Given the description of an element on the screen output the (x, y) to click on. 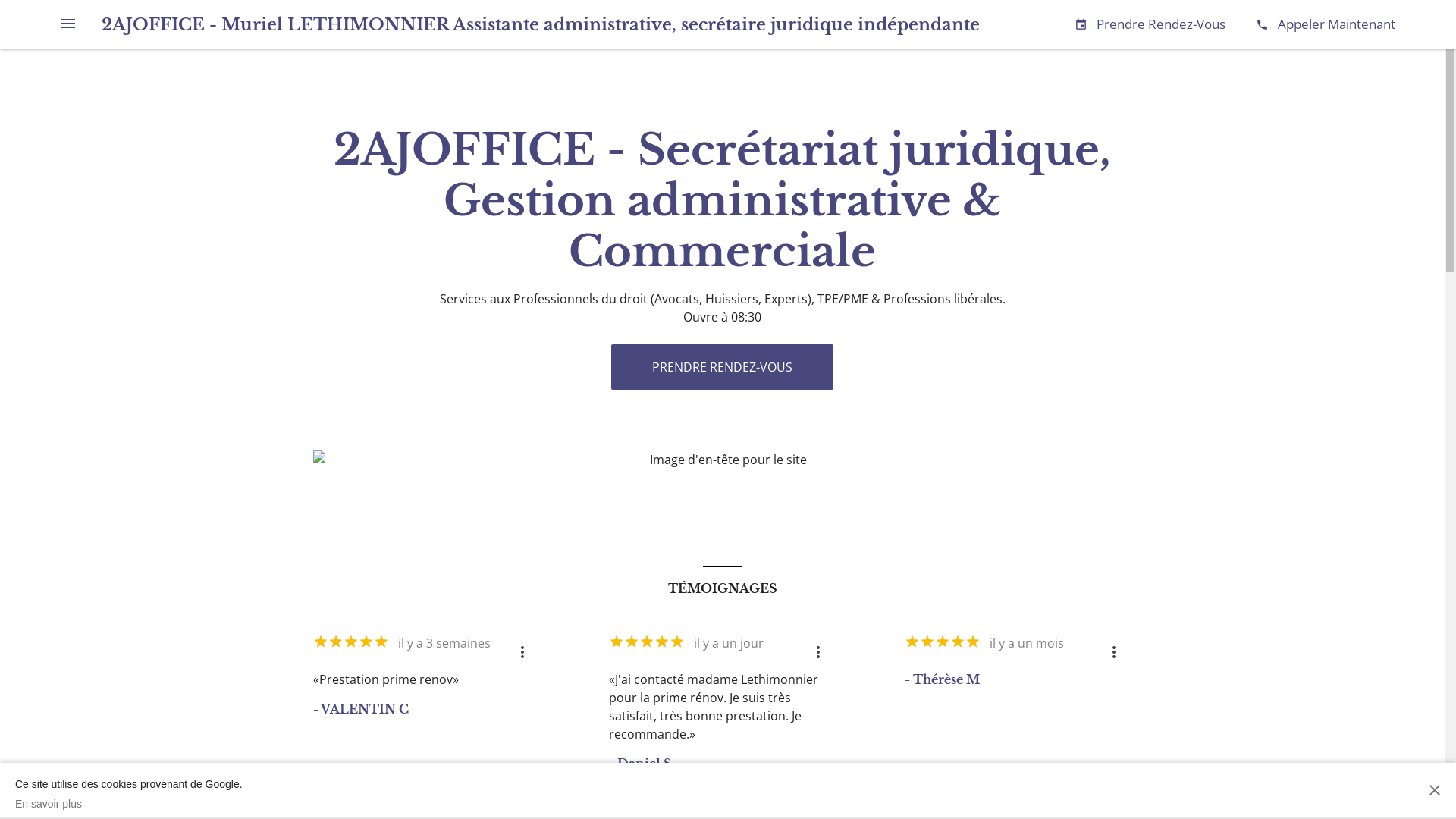
En savoir plus Element type: text (128, 803)
PRENDRE RENDEZ-VOUS Element type: text (722, 366)
